Given the description of an element on the screen output the (x, y) to click on. 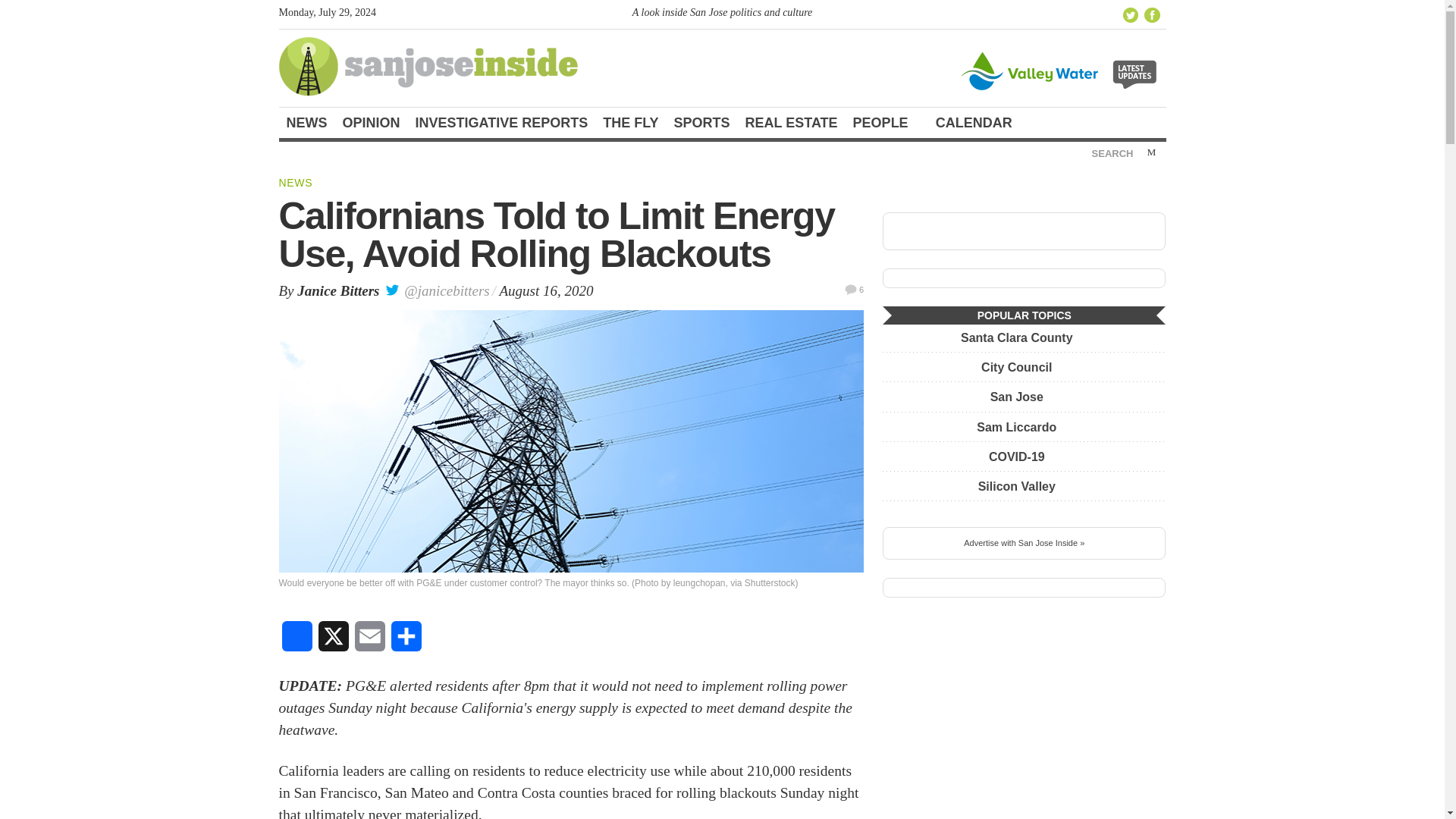
6 comments (853, 287)
News from Valley Water (1061, 69)
View all posts in News (296, 182)
CALENDAR (980, 122)
Opinion (370, 122)
INVESTIGATIVE REPORTS (501, 122)
NEWS (306, 122)
SPORTS (702, 122)
San Jose Inside on Facebook (1152, 14)
The Fly (630, 122)
PEOPLE (886, 122)
Investigative Reports (501, 122)
Posts by Janice Bitters (337, 290)
News (306, 122)
OPINION (370, 122)
